Given the description of an element on the screen output the (x, y) to click on. 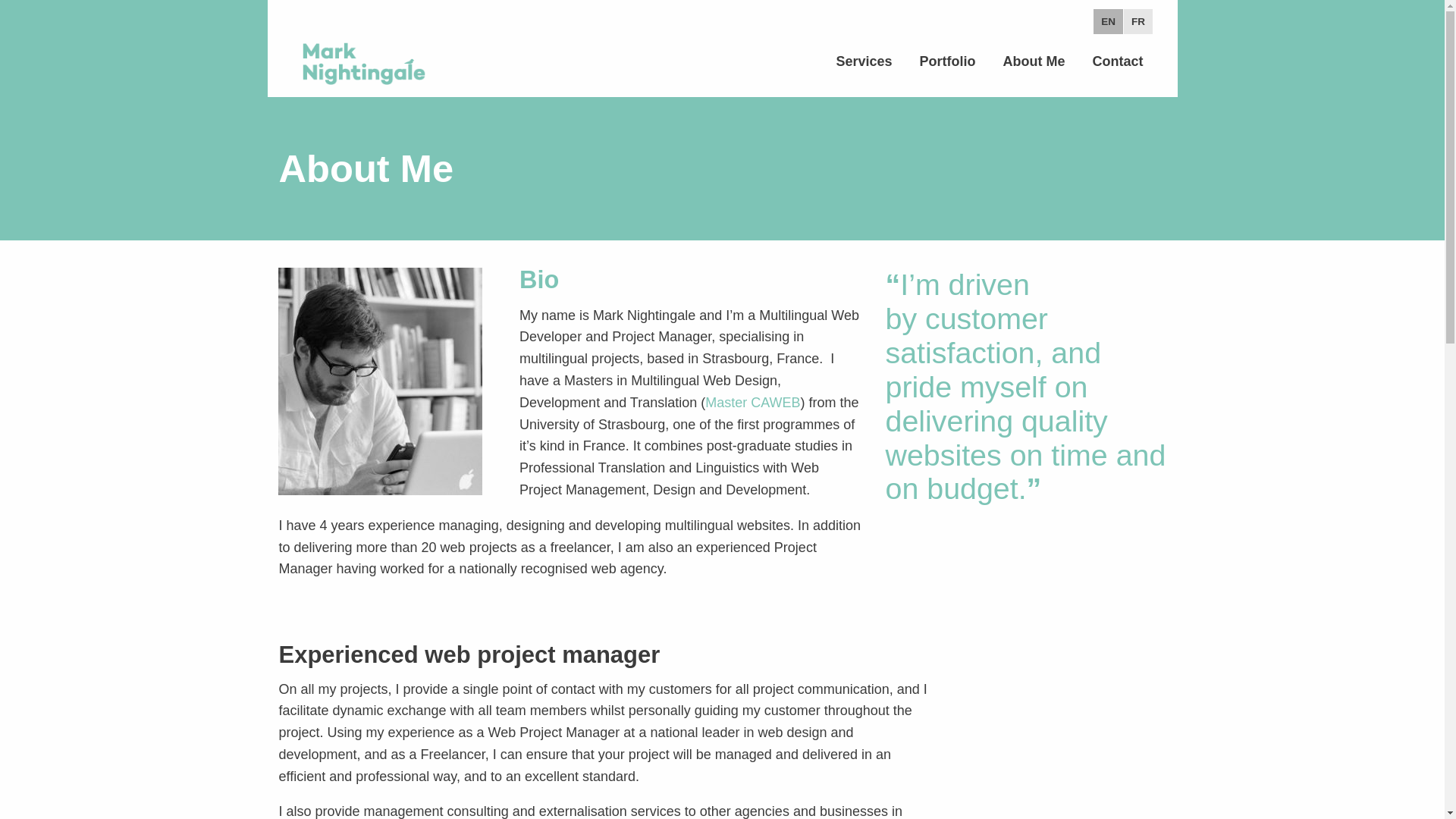
Services (863, 60)
EN (1107, 21)
Portfolio (947, 60)
About Me (1034, 60)
Master CAWEB (751, 402)
FR (1137, 21)
Contact (1117, 60)
